Given the description of an element on the screen output the (x, y) to click on. 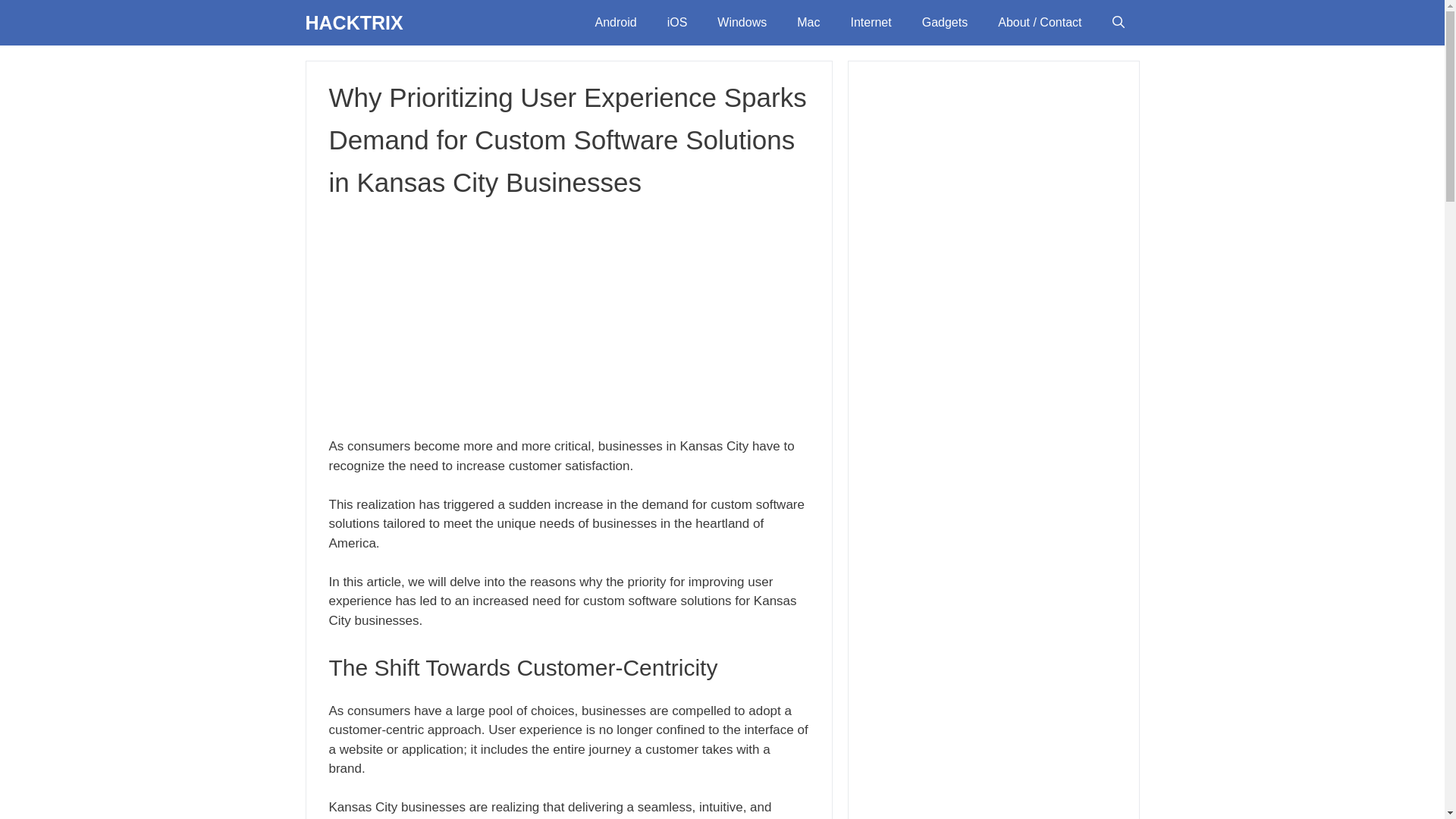
HACKTRIX (353, 22)
Internet (869, 22)
Gadgets (944, 22)
Android (614, 22)
Advertisement (569, 317)
Windows (741, 22)
iOS (677, 22)
Mac (807, 22)
